Given the description of an element on the screen output the (x, y) to click on. 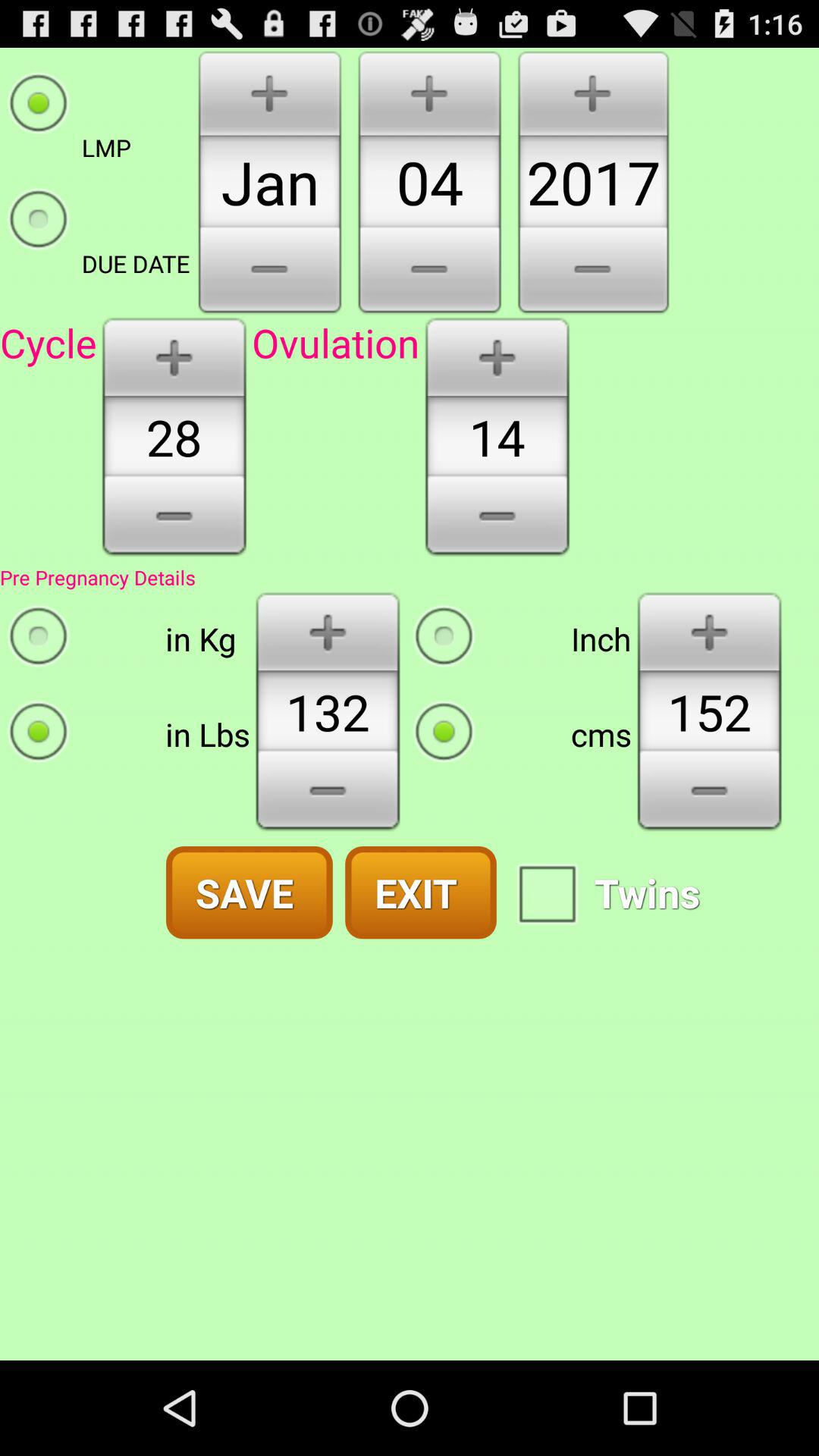
increase weight button (327, 630)
